Given the description of an element on the screen output the (x, y) to click on. 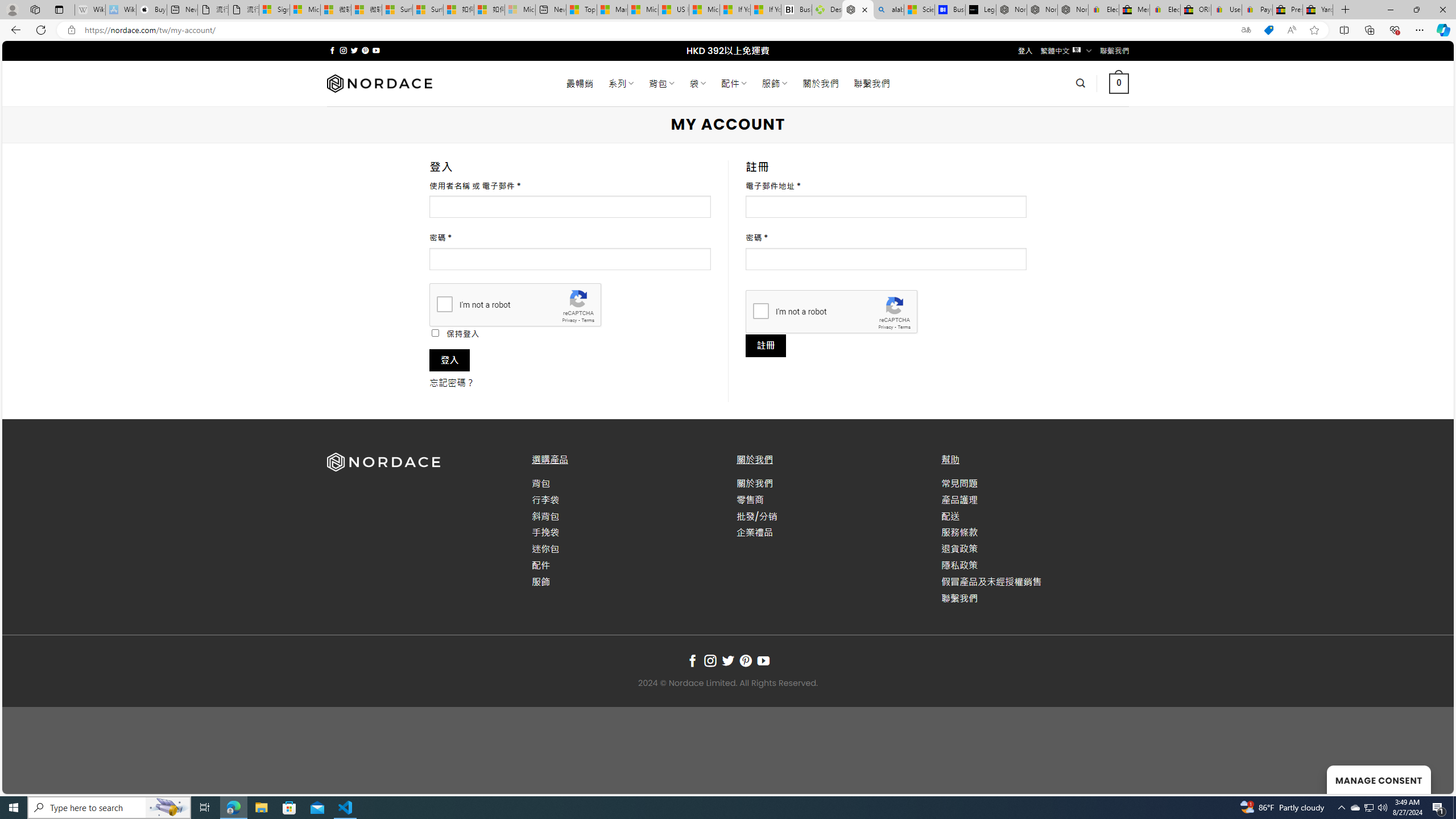
Follow on Pinterest (745, 660)
Follow on Instagram (710, 660)
